Given the description of an element on the screen output the (x, y) to click on. 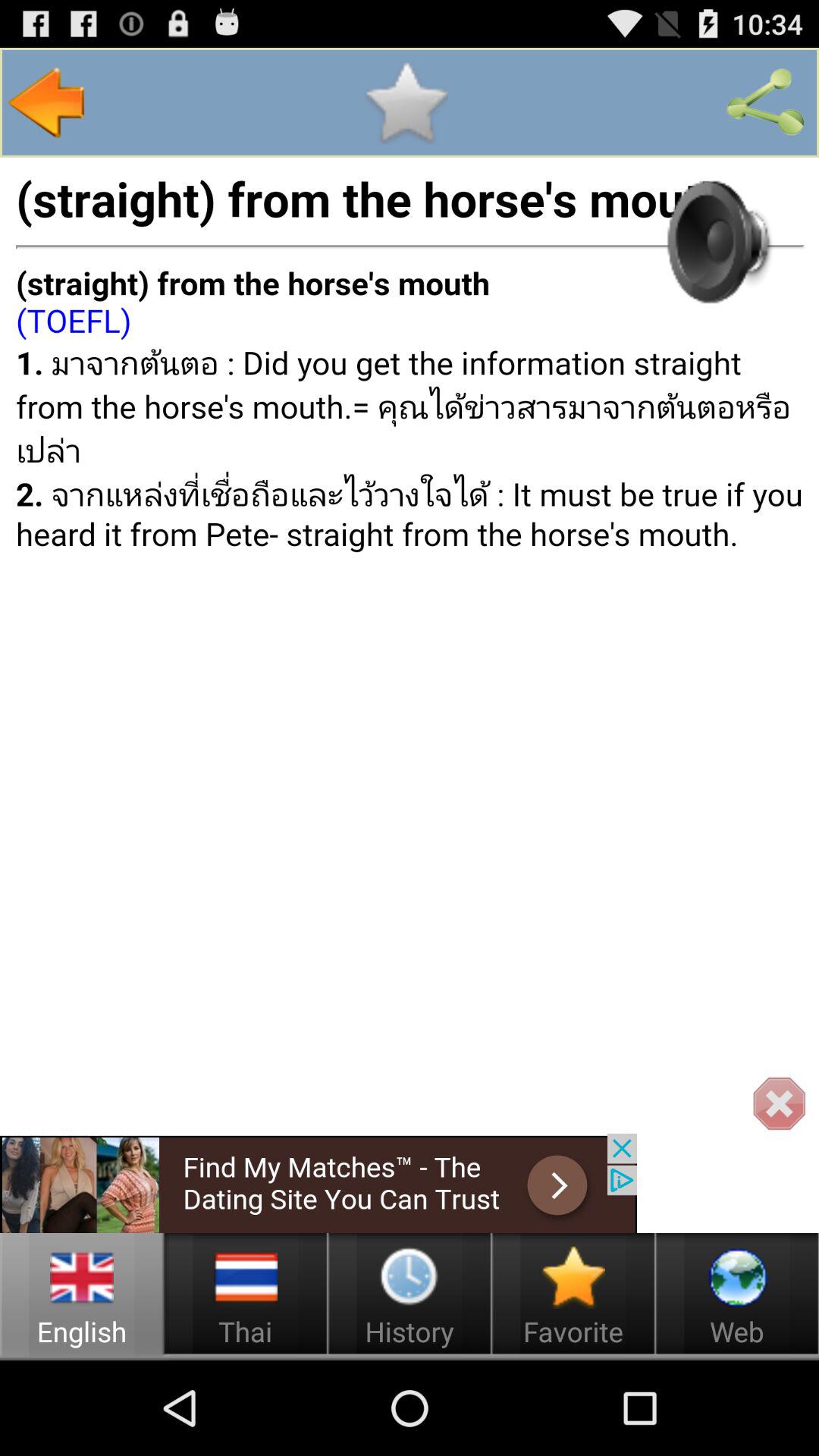
close (778, 1104)
